Given the description of an element on the screen output the (x, y) to click on. 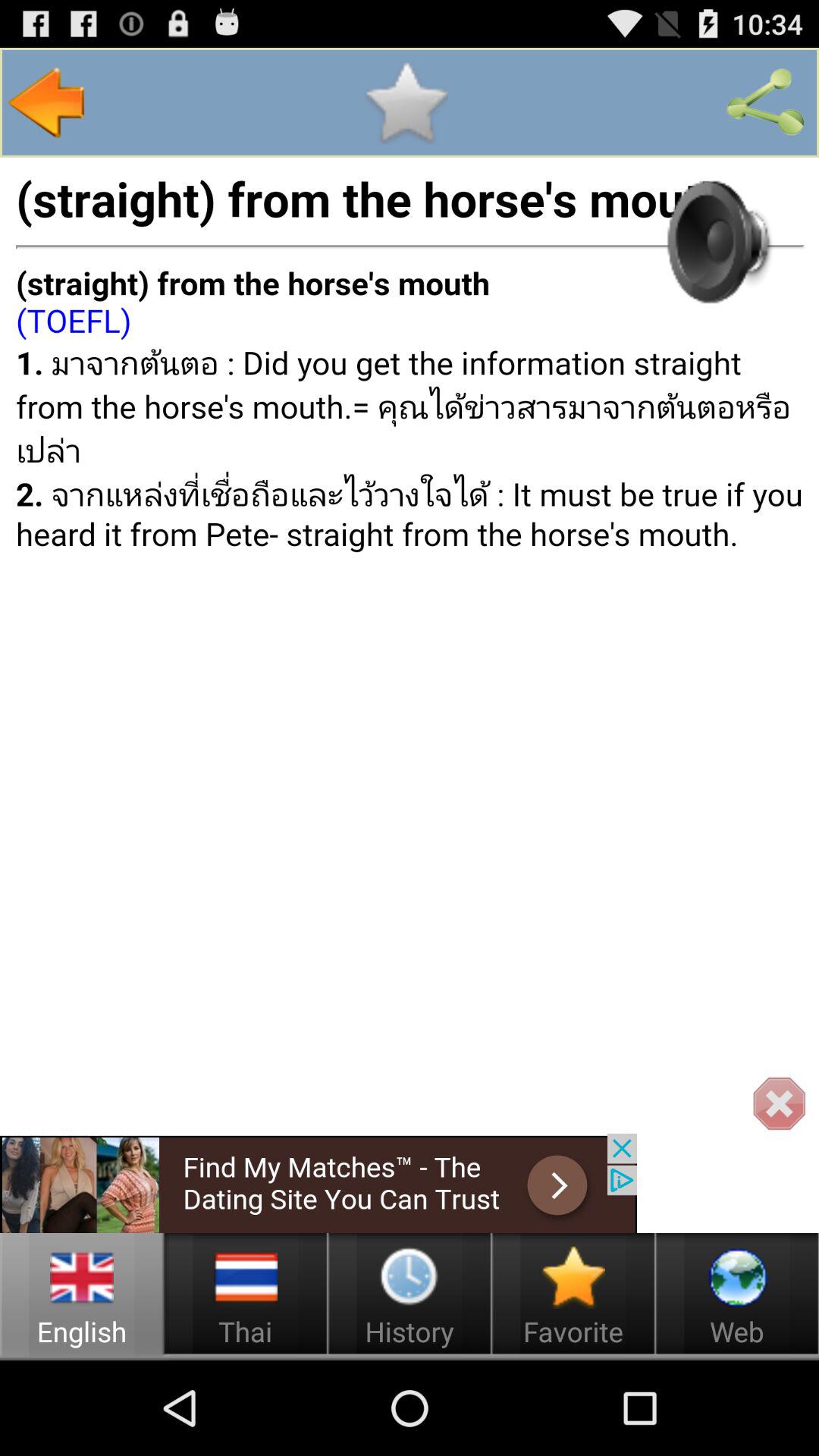
close (778, 1104)
